Given the description of an element on the screen output the (x, y) to click on. 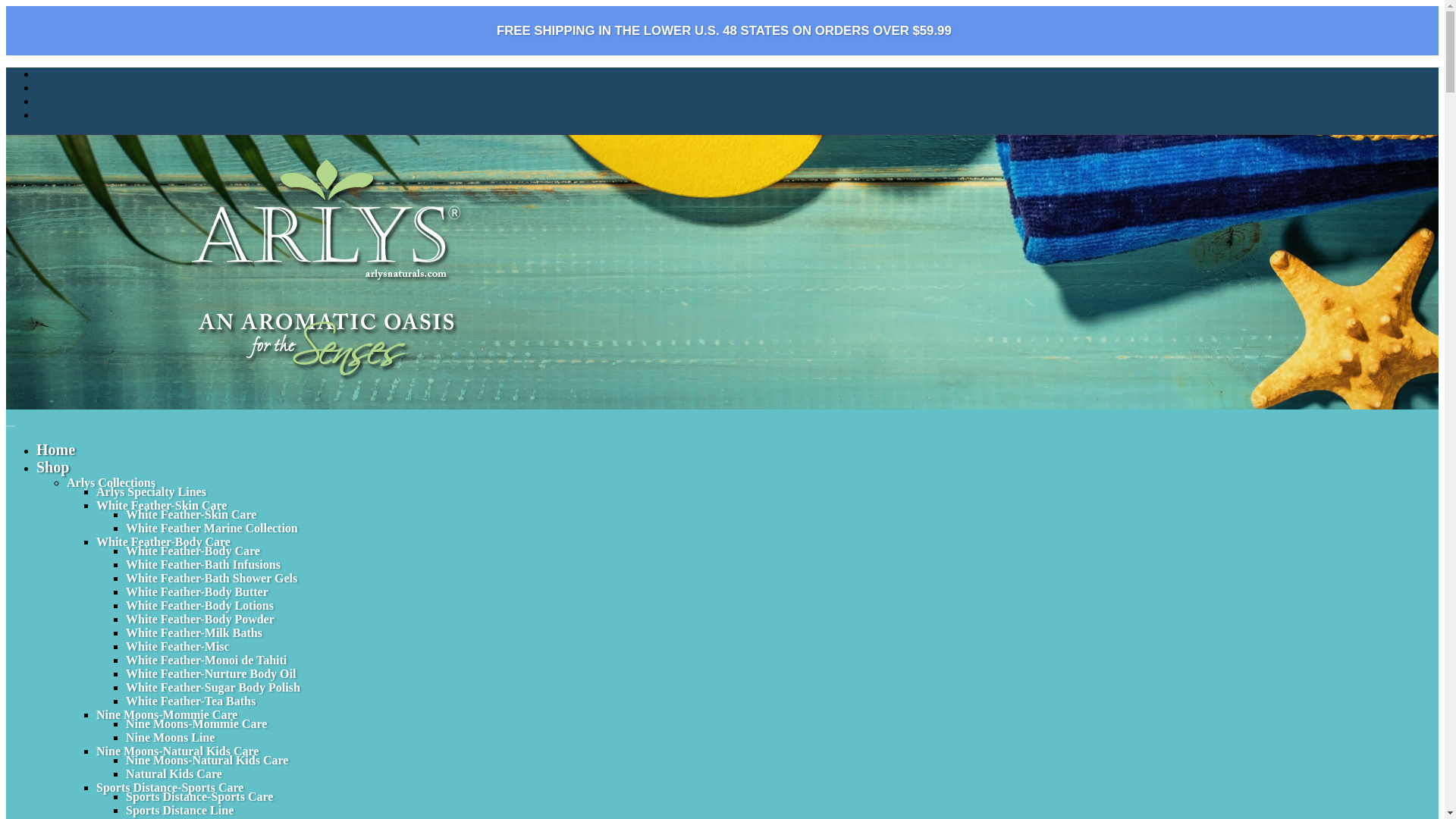
White Feather-Body Lotions (199, 604)
Home (55, 449)
White Feather-Body Care (163, 541)
Nine Moons Line (169, 737)
Sports Distance-Sports Care (199, 796)
White Feather-Nurture Body Oil (210, 673)
White Feather-Misc (177, 645)
White Feather-Body Powder (200, 618)
Nine Moons-Natural Kids Care (177, 750)
Arlys Specialty Lines (151, 491)
White Feather-Body Butter (196, 591)
White Feather-Skin Care (190, 513)
White Feather-Body Care (192, 550)
Sports Distance Line (178, 809)
Nine Moons-Mommie Care (195, 723)
